Given the description of an element on the screen output the (x, y) to click on. 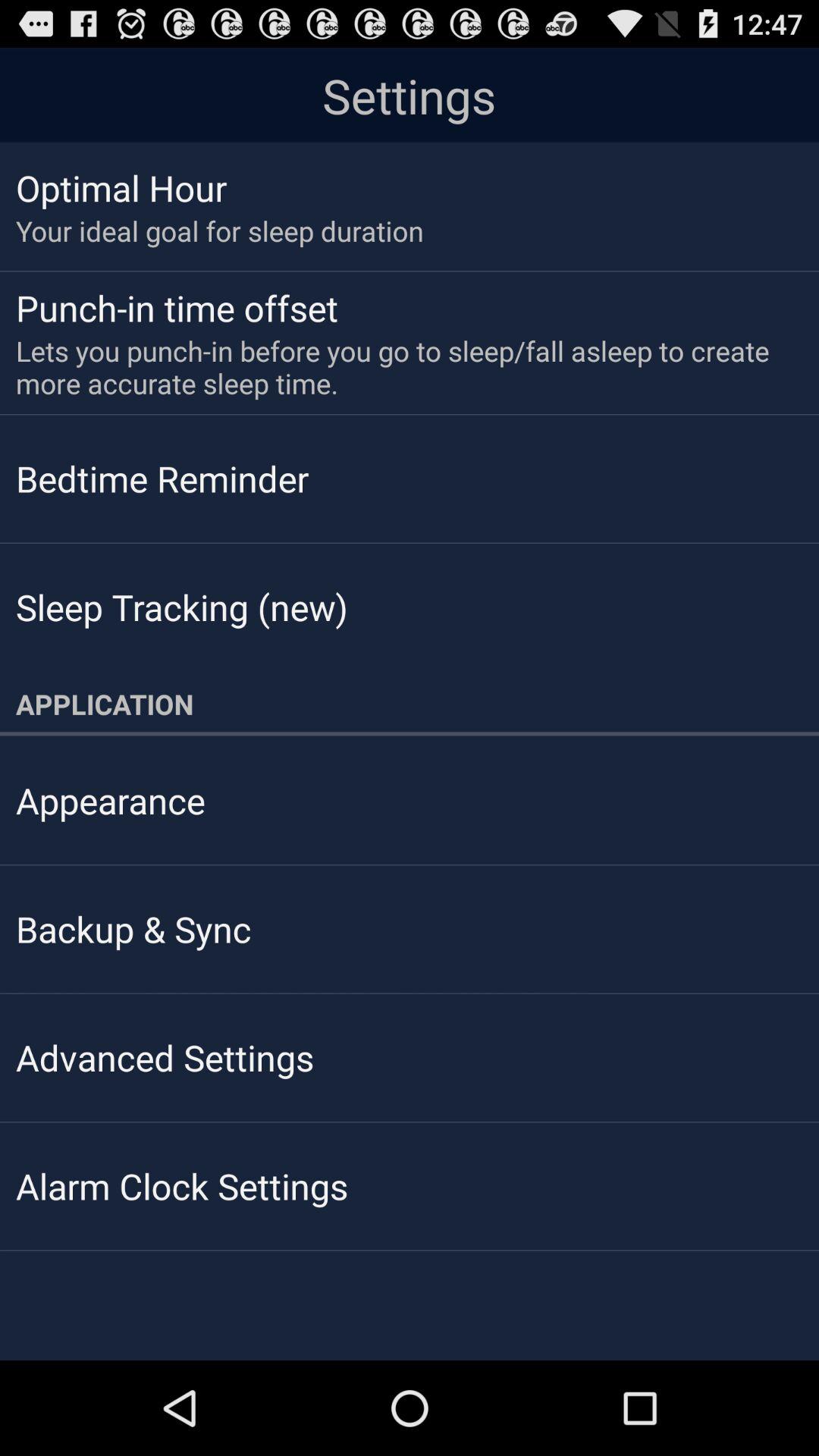
press item above the your ideal goal icon (120, 187)
